Given the description of an element on the screen output the (x, y) to click on. 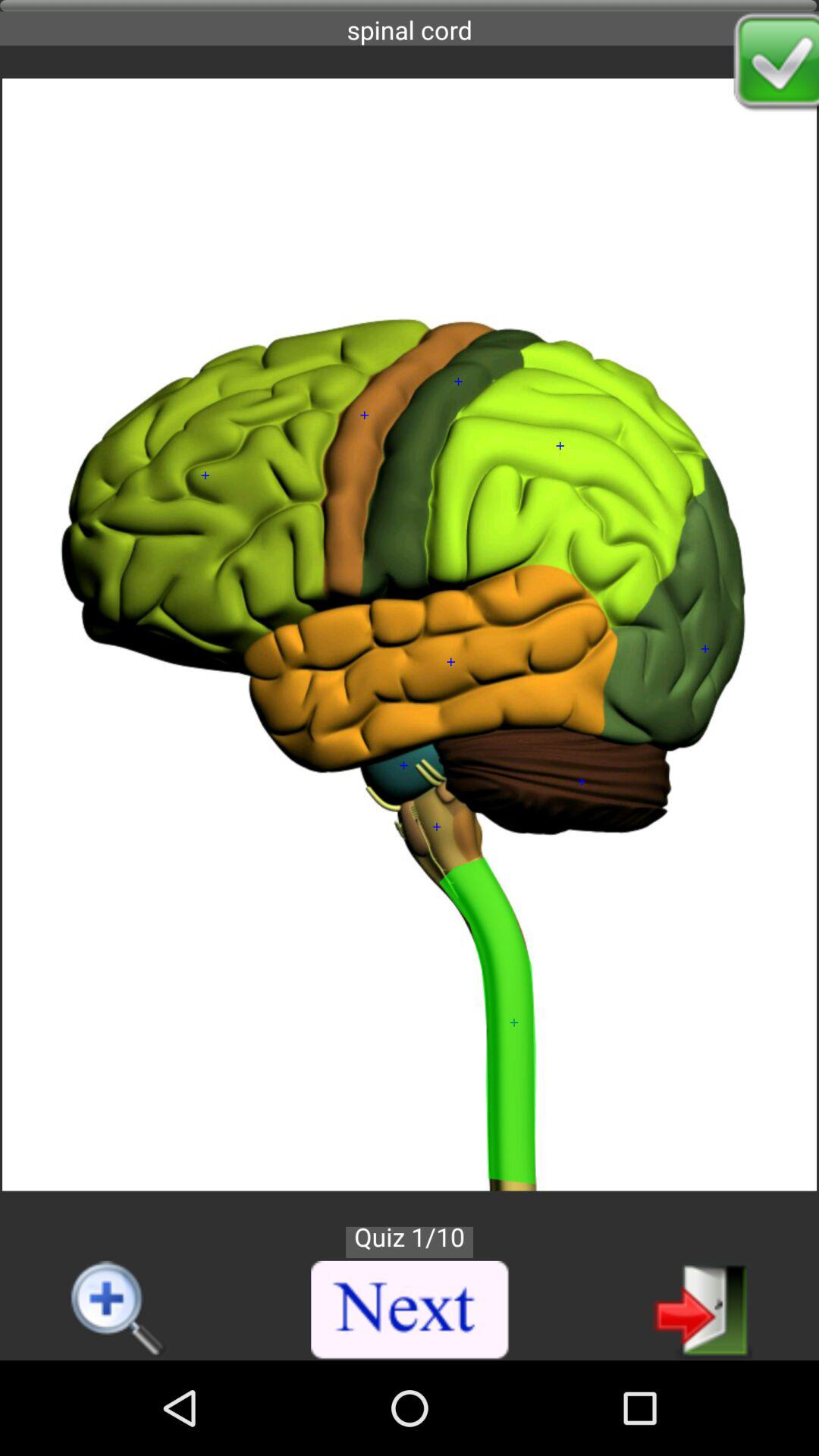
click to enlarge (118, 1310)
